Given the description of an element on the screen output the (x, y) to click on. 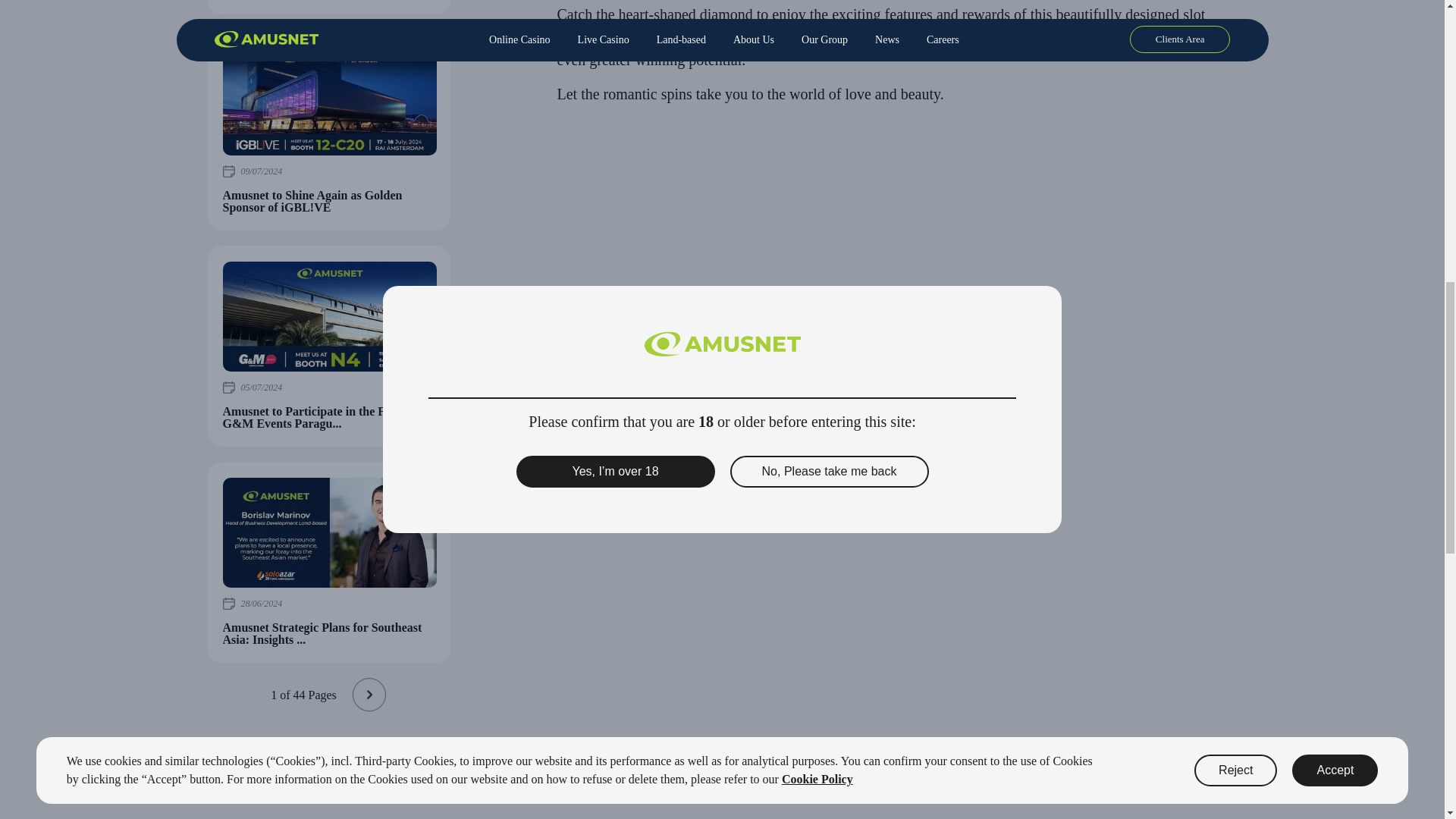
Amusnet to Shine Again as Golden Sponsor of iGBL!VE (329, 100)
